Given the description of an element on the screen output the (x, y) to click on. 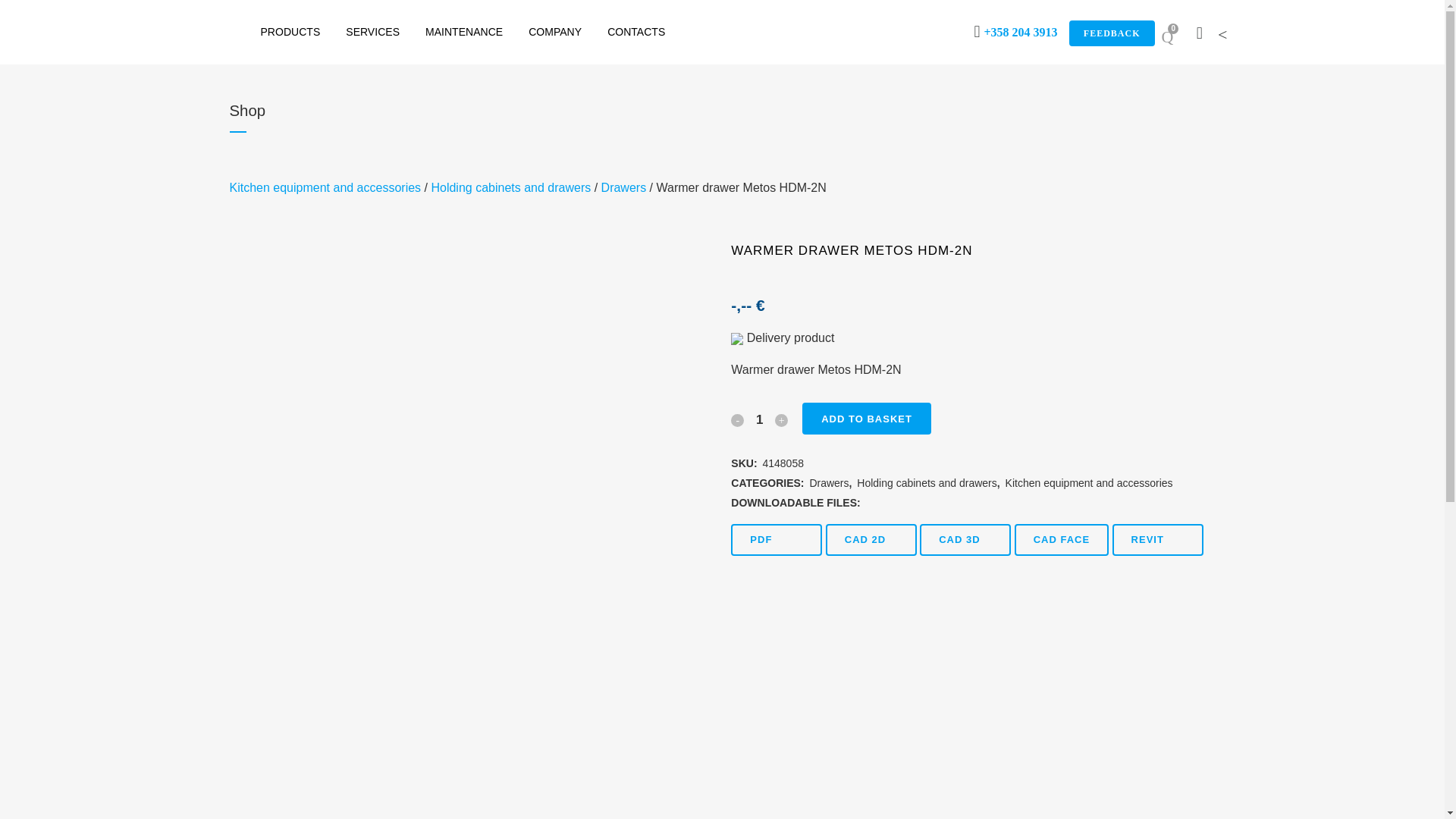
1 (759, 419)
COMPANY (554, 32)
MAINTENANCE (463, 32)
Company (554, 32)
FEEDBACK (1111, 32)
SERVICES (372, 32)
- (737, 420)
Services (372, 32)
PRODUCTS (290, 32)
Products (290, 32)
